Given the description of an element on the screen output the (x, y) to click on. 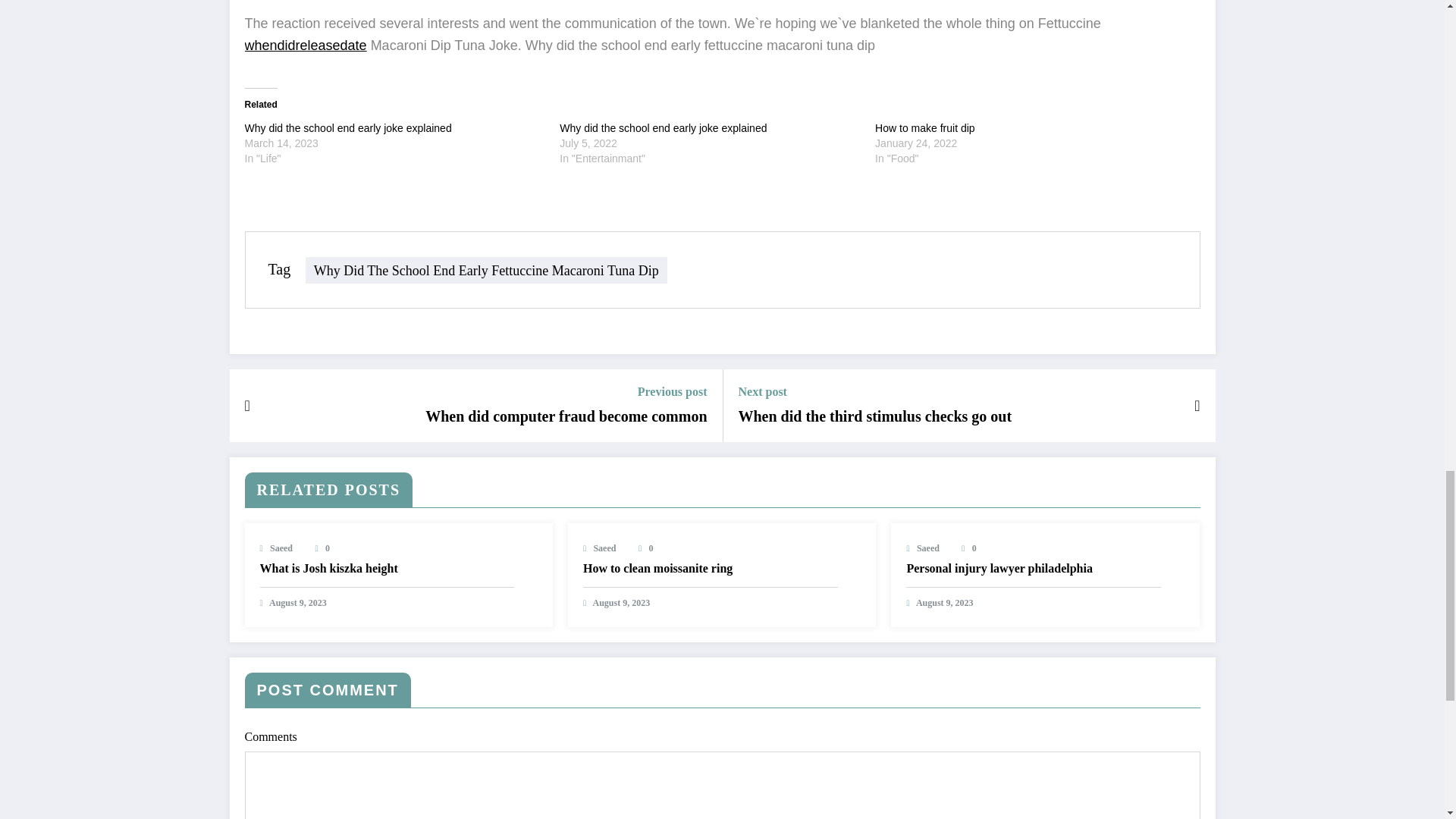
Why Did The School End Early Fettuccine Macaroni Tuna Dip (485, 270)
Previous post (565, 391)
How to make fruit dip (925, 128)
Why did the school end early joke explained (347, 128)
Next post (874, 391)
When did the third stimulus checks go out (874, 415)
whendidreleasedate (305, 45)
When did computer fraud become common (565, 415)
Why did the school end early joke explained (663, 128)
